Given the description of an element on the screen output the (x, y) to click on. 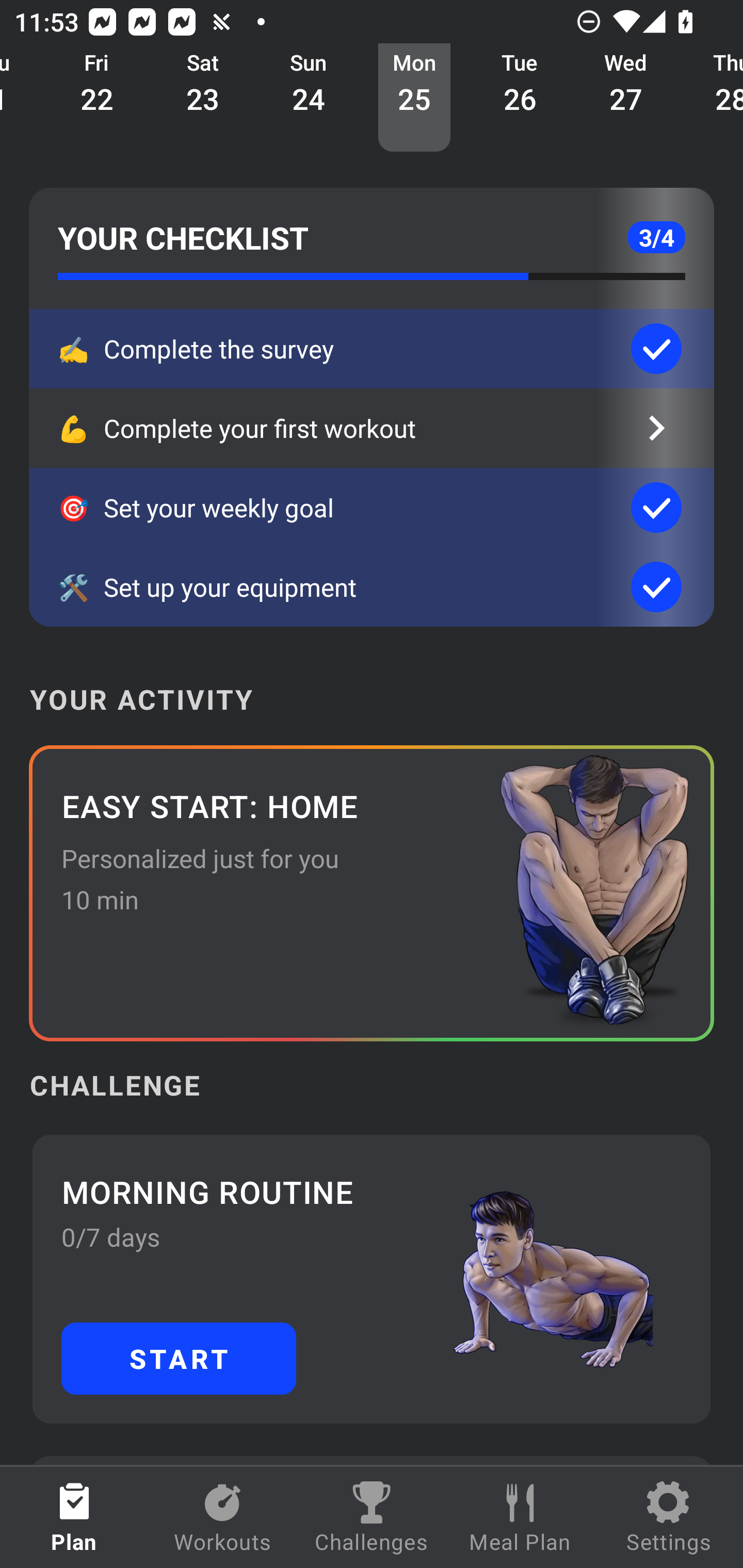
Fri 22 (97, 97)
Sat 23 (202, 97)
Sun 24 (308, 97)
Mon 25 (414, 97)
Tue 26 (520, 97)
Wed 27 (626, 97)
💪 Complete your first workout (371, 427)
EASY START: HOME Personalized just for you 10 min (371, 892)
MORNING ROUTINE 0/7 days START (371, 1278)
START (178, 1357)
 Workouts  (222, 1517)
 Challenges  (371, 1517)
 Meal Plan  (519, 1517)
 Settings  (668, 1517)
